Given the description of an element on the screen output the (x, y) to click on. 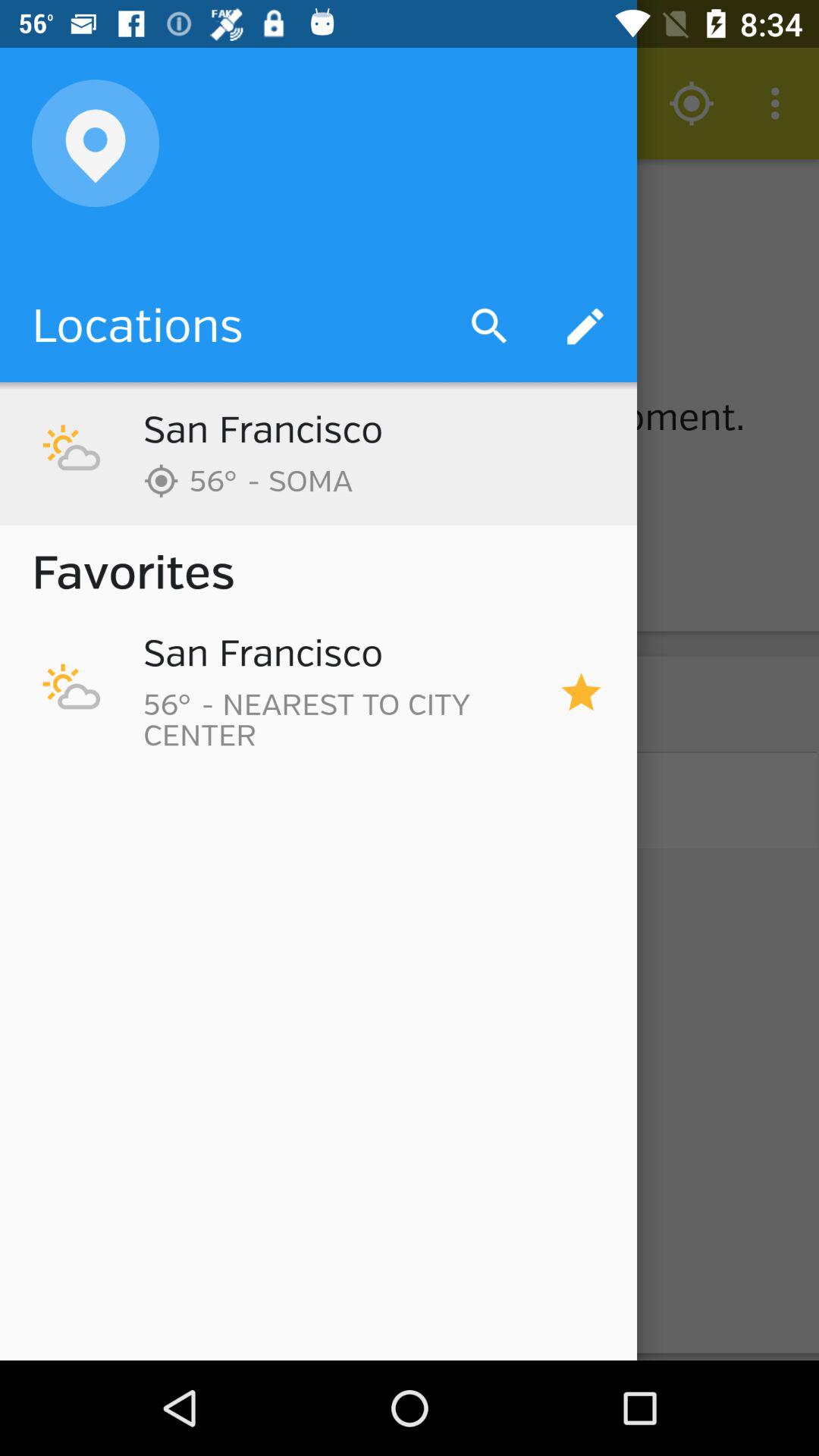
click on the search icon (408, 260)
click on the search icon (489, 326)
